Given the description of an element on the screen output the (x, y) to click on. 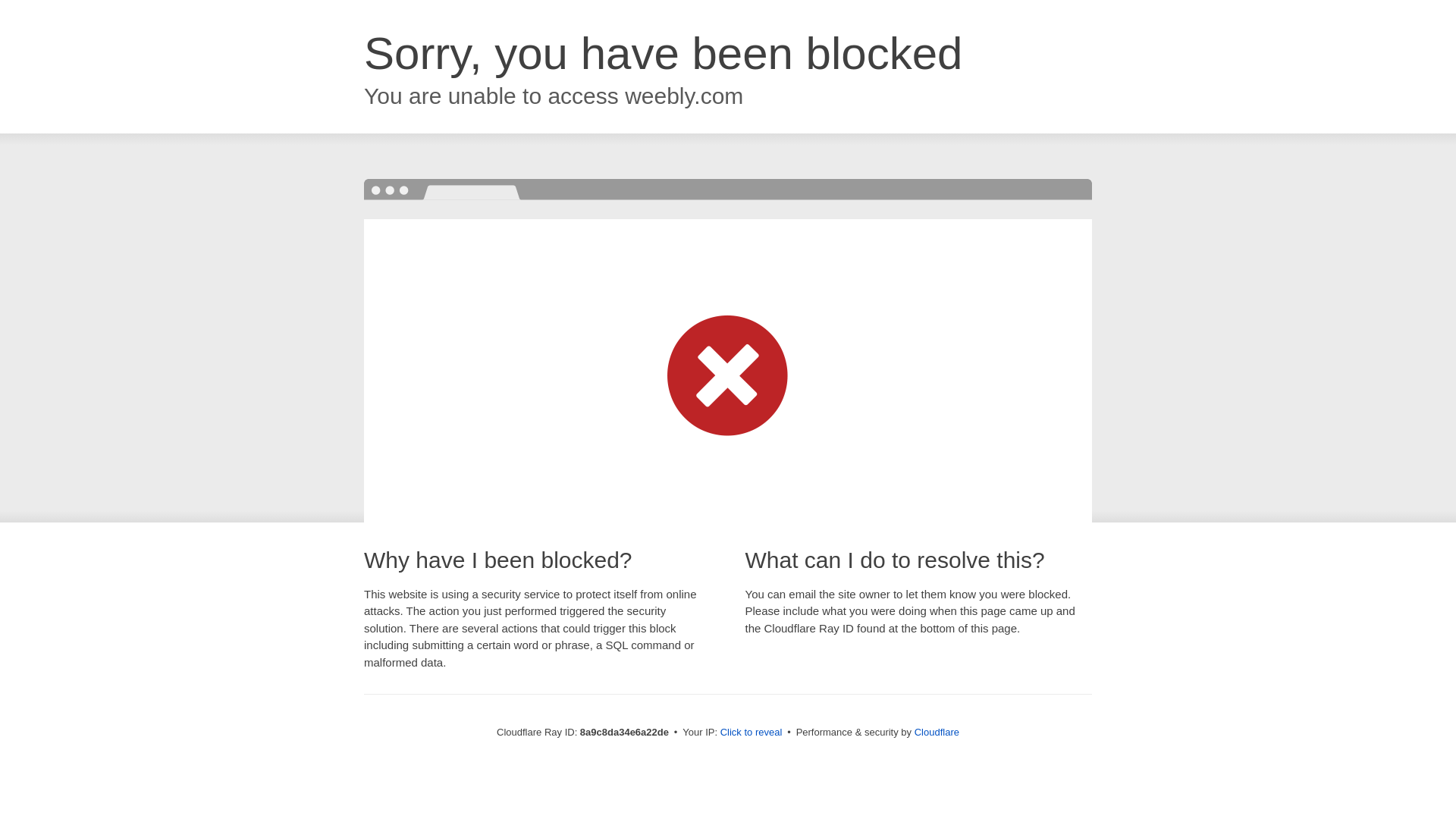
Cloudflare (936, 731)
Click to reveal (751, 732)
